Given the description of an element on the screen output the (x, y) to click on. 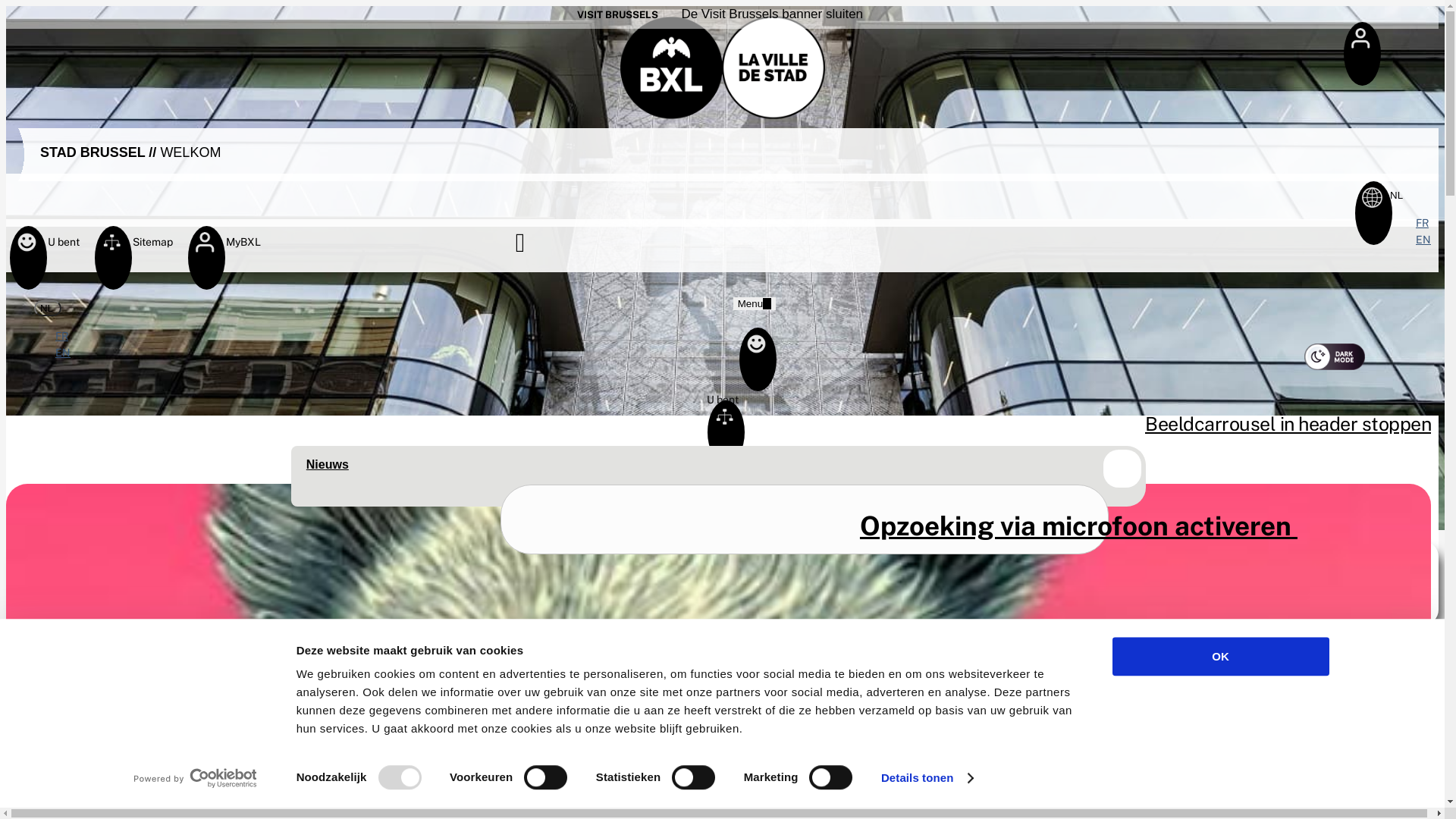
Nieuws Element type: text (327, 464)
FR Element type: text (1421, 222)
MyBXL Element type: text (204, 248)
Homepage Stad Brussel Element type: hover (722, 64)
Terug naar boven Element type: text (1419, 748)
Beeldcarrousel in header stoppen Element type: text (1287, 427)
E-loket Element type: text (722, 539)
Nachtmodus activeren
 Element type: hover (1334, 356)
FR Element type: text (61, 335)
Sitemap Element type: text (111, 248)
Live Element type: text (722, 757)
EN Element type: text (62, 352)
Afspraak Element type: text (722, 747)
NL  Element type: text (1397, 194)
OK Element type: text (1219, 656)
U bent Element type: text (722, 393)
Afspraak Element type: text (722, 684)
Uren Element type: text (722, 674)
Uren Element type: text (722, 611)
VISIT BRUSSELS Element type: text (617, 14)
Opzoeking via microfoon activeren  Element type: text (1077, 525)
  De Visit Brussels banner sluiten Element type: text (768, 14)
U bent Element type: text (26, 248)
Details tonen Element type: text (926, 777)
Sitemap Element type: text (722, 466)
Aanvragen Element type: text (783, 601)
Zoeken Element type: text (538, 245)
EN Element type: text (1422, 239)
Menu    Element type: text (754, 303)
Zoeken Element type: hover (804, 519)
NL  Element type: text (47, 308)
